Given the description of an element on the screen output the (x, y) to click on. 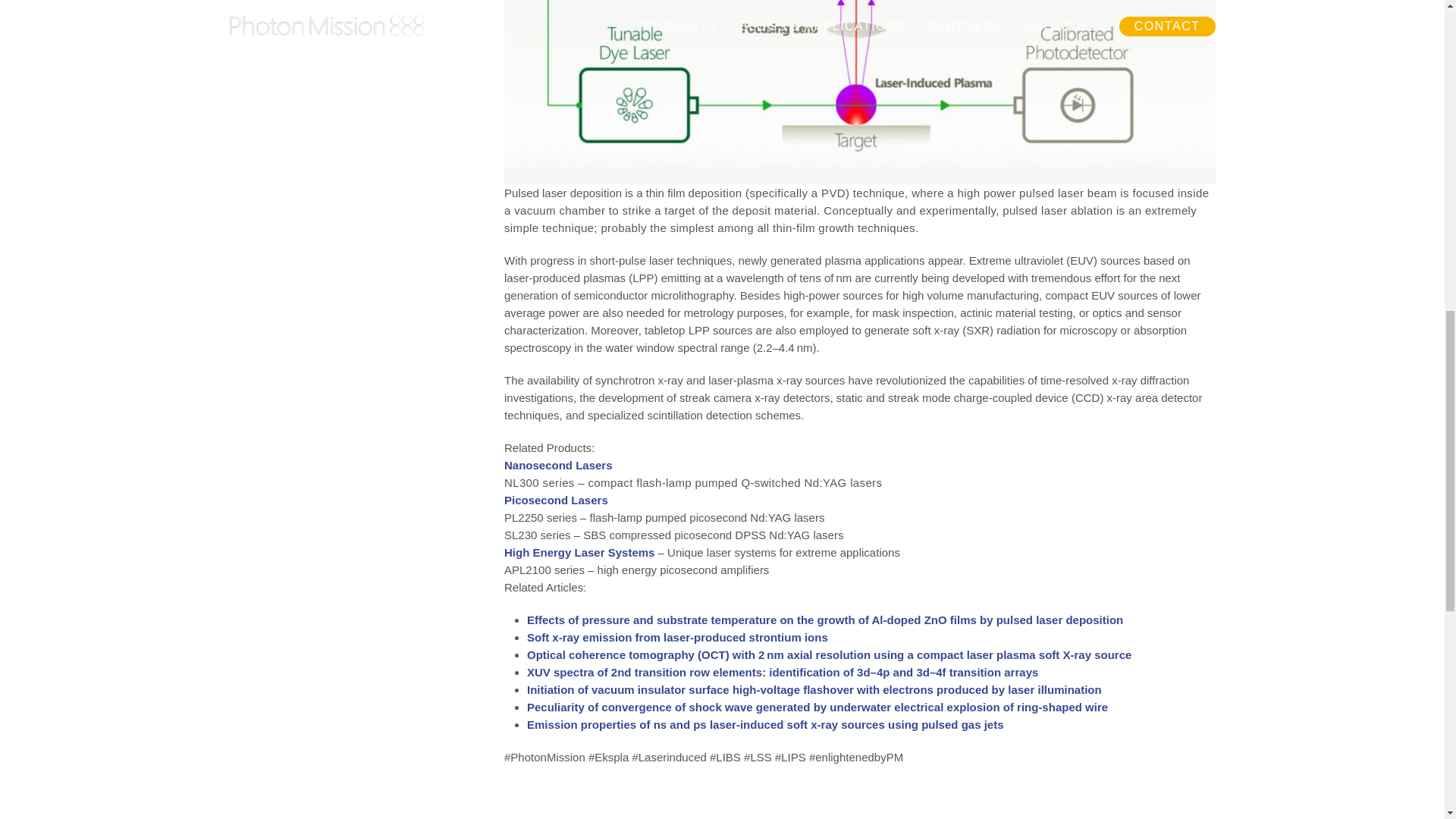
Picosecond Lasers (555, 499)
High Energy Laser Systems (578, 552)
Show more... (871, 619)
Soft x-ray emission from laser-produced strontium ions (677, 636)
Show more... (871, 637)
Nanosecond Lasers (557, 464)
